Given the description of an element on the screen output the (x, y) to click on. 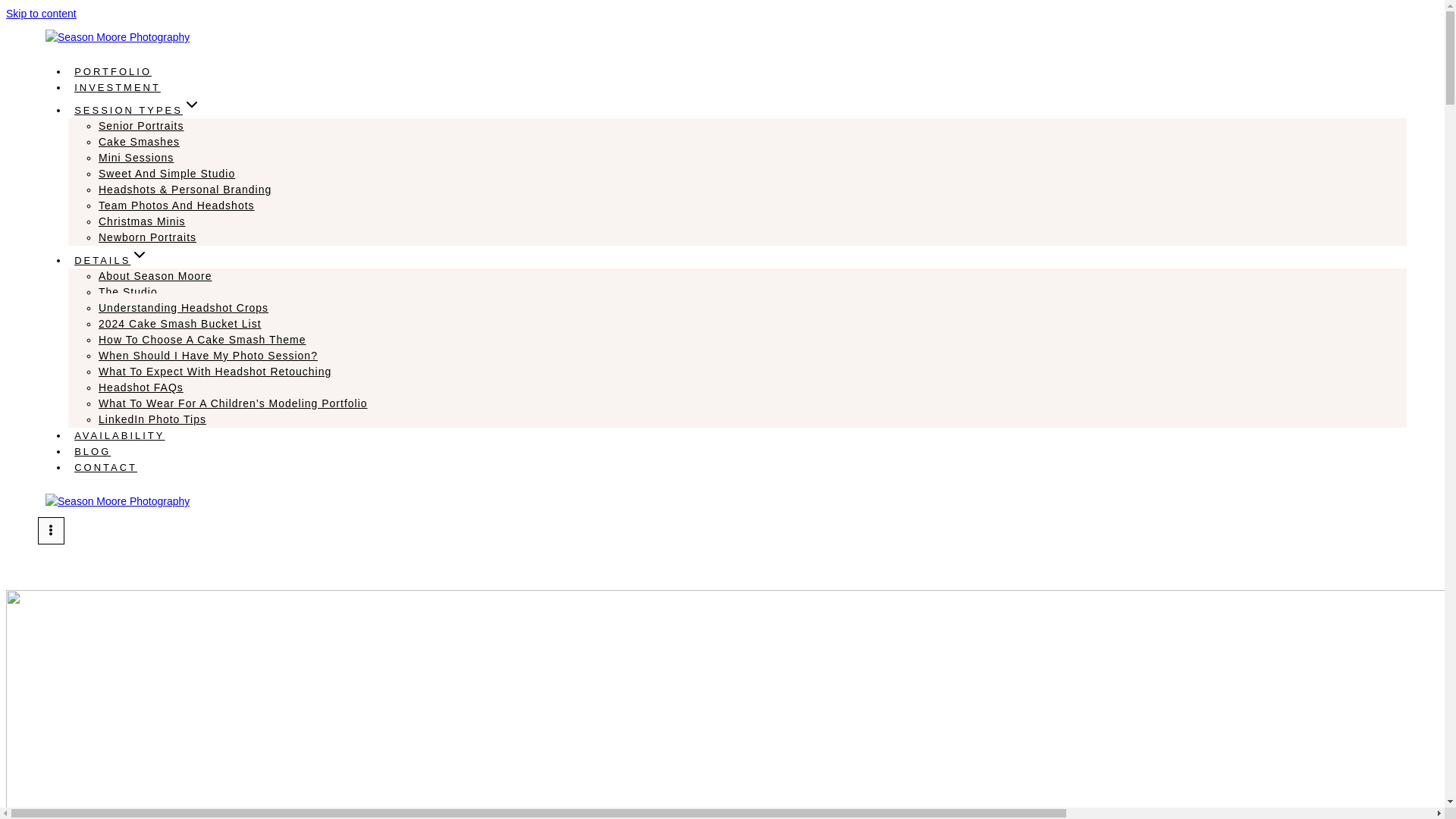
EXPAND (139, 254)
About Season Moore (155, 275)
Headshot FAQs (141, 387)
DETAILSEXPAND (111, 259)
EXPAND (191, 104)
Senior Portraits (141, 125)
AVAILABILITY (119, 435)
Sweet And Simple Studio (166, 173)
Toggle Menu (50, 530)
LinkedIn Photo Tips (152, 419)
Understanding Headshot Crops (183, 307)
Mini Sessions (136, 157)
Christmas Minis (142, 221)
Team Photos And Headshots (176, 205)
When Should I Have My Photo Session? (208, 355)
